Given the description of an element on the screen output the (x, y) to click on. 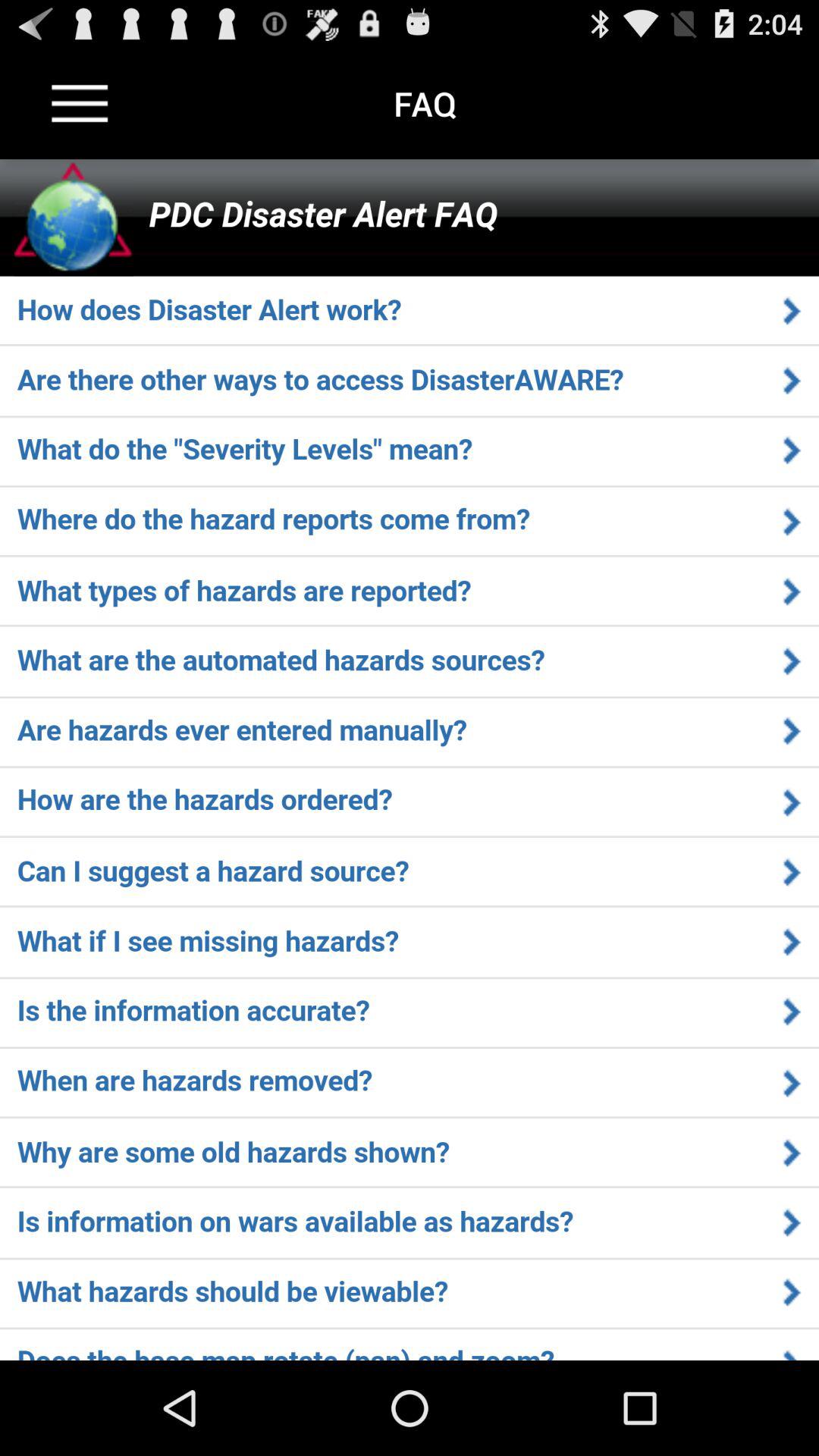
color print (409, 759)
